Given the description of an element on the screen output the (x, y) to click on. 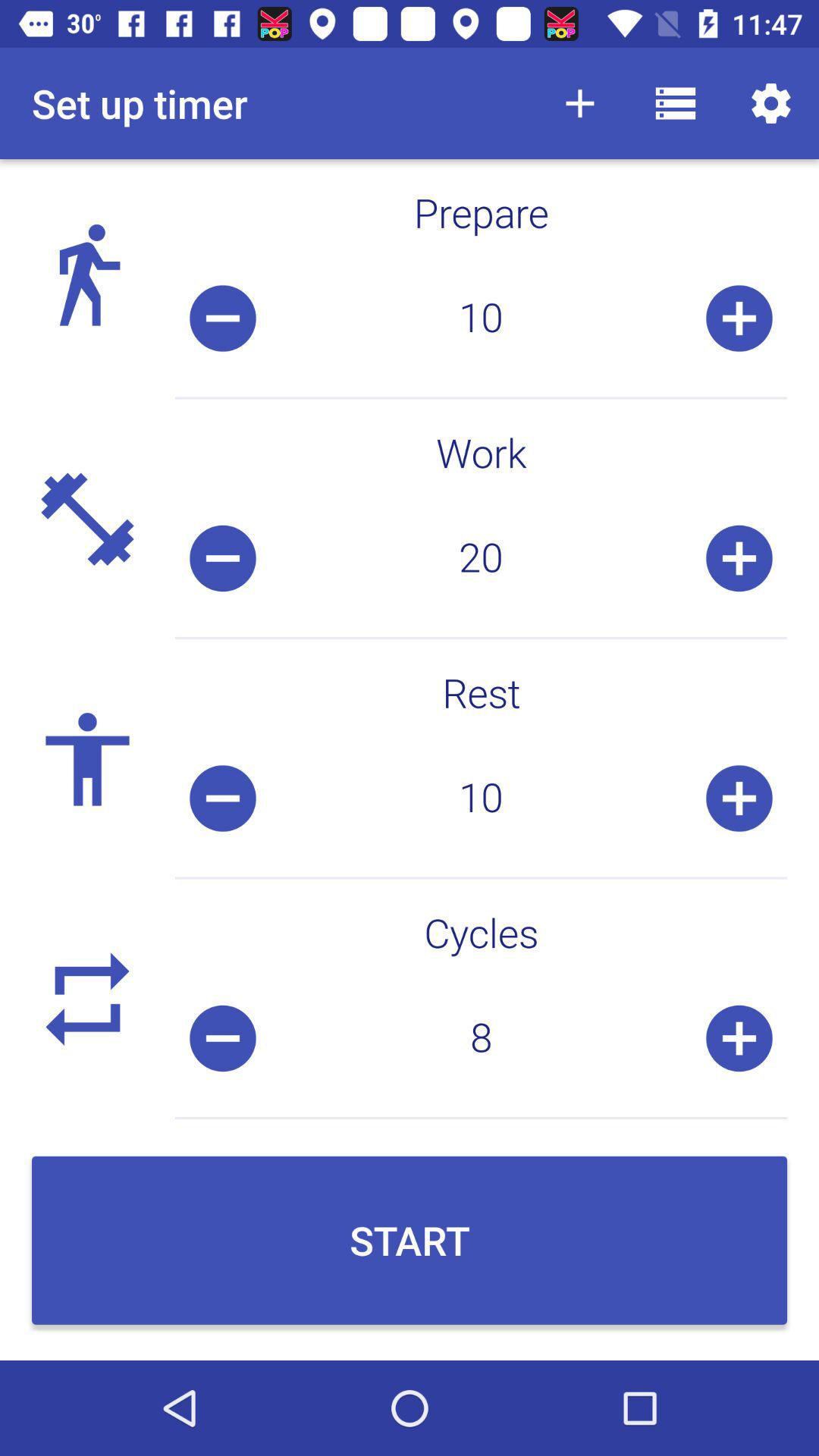
open item to the right of the set up timer (579, 103)
